Given the description of an element on the screen output the (x, y) to click on. 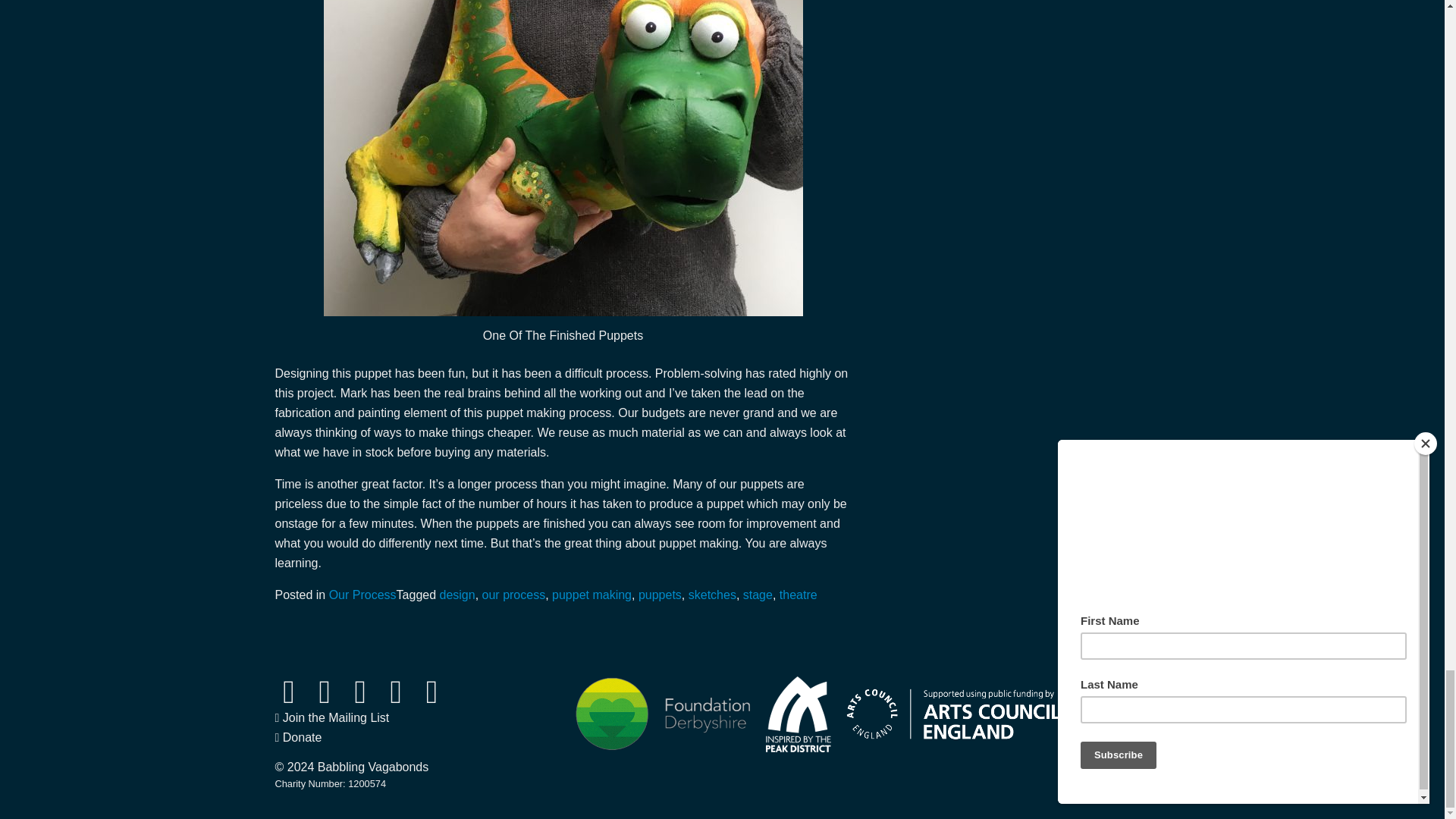
stage (757, 594)
sketches (712, 594)
puppet making (591, 594)
Our Process (362, 594)
theatre (797, 594)
our process (513, 594)
design (457, 594)
puppets (660, 594)
